Given the description of an element on the screen output the (x, y) to click on. 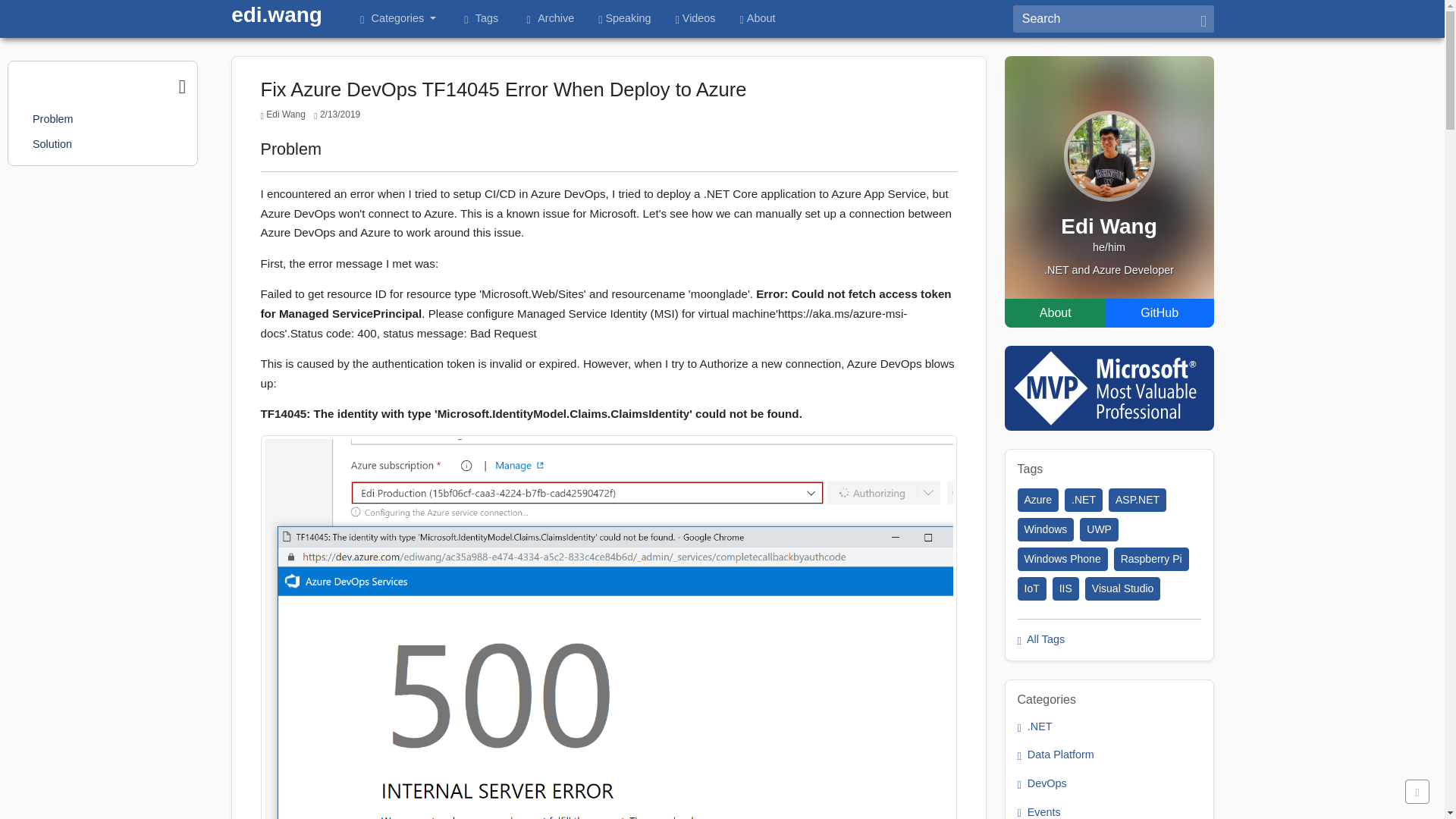
Archive (547, 18)
Speaking (624, 18)
Windows Phone (1062, 558)
Videos (695, 18)
Search (1103, 18)
Tags (478, 18)
.NET (1083, 499)
GitHub (1159, 312)
Azure (1038, 499)
Logo of Microsoft MVP (1108, 387)
UWP (1099, 529)
About (757, 18)
edi.wang (276, 15)
About (1055, 312)
Windows (1045, 529)
